Given the description of an element on the screen output the (x, y) to click on. 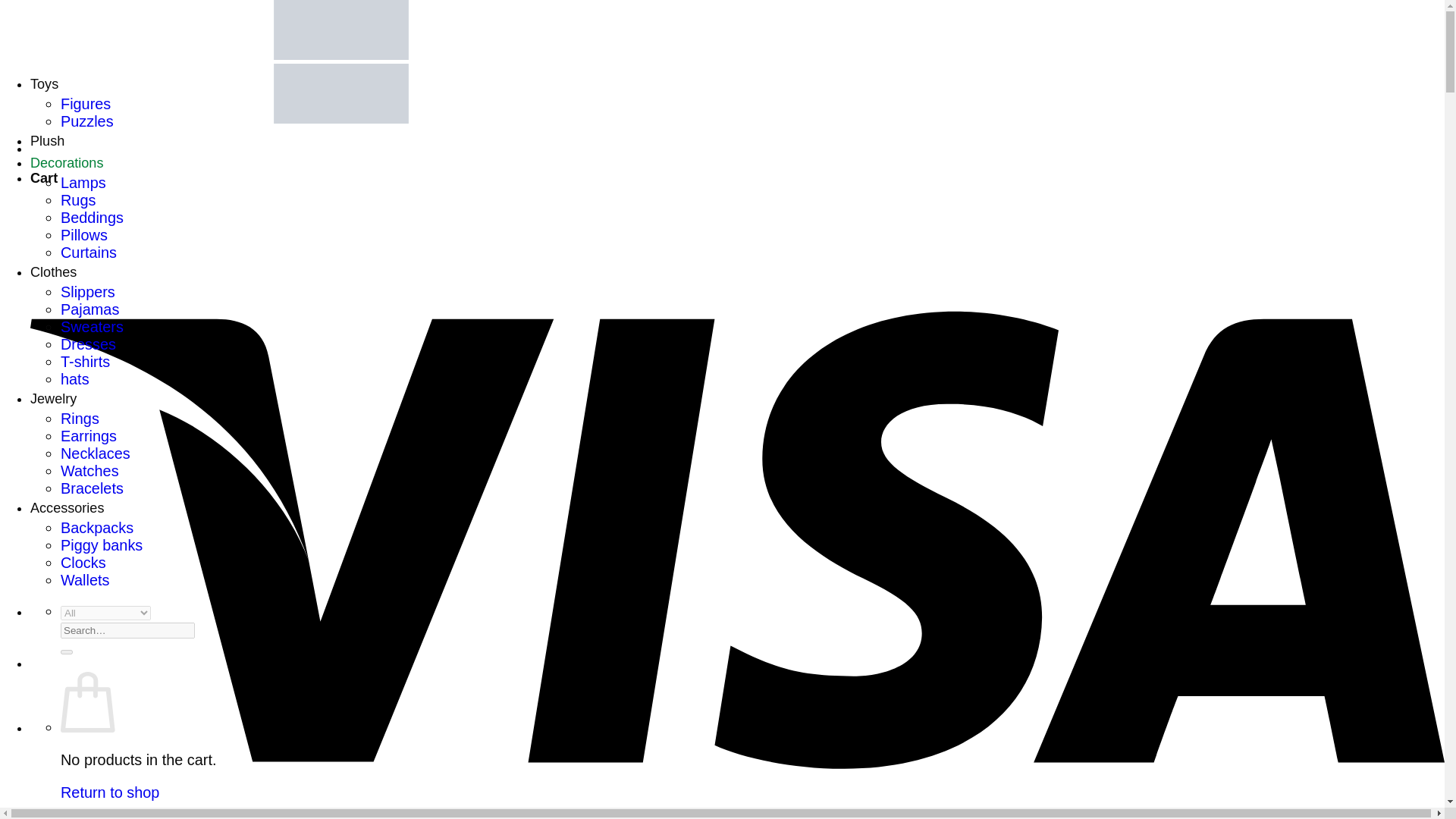
Pajamas (90, 309)
Figures (85, 103)
Accessories (66, 507)
T-shirts (85, 361)
Puzzles (87, 121)
Decorations (66, 162)
Dresses (88, 343)
hats (74, 379)
Curtains (88, 252)
Rings (80, 418)
Return to shop (109, 791)
Necklaces (96, 453)
Lamps (83, 182)
Earrings (88, 435)
Backpacks (97, 527)
